Given the description of an element on the screen output the (x, y) to click on. 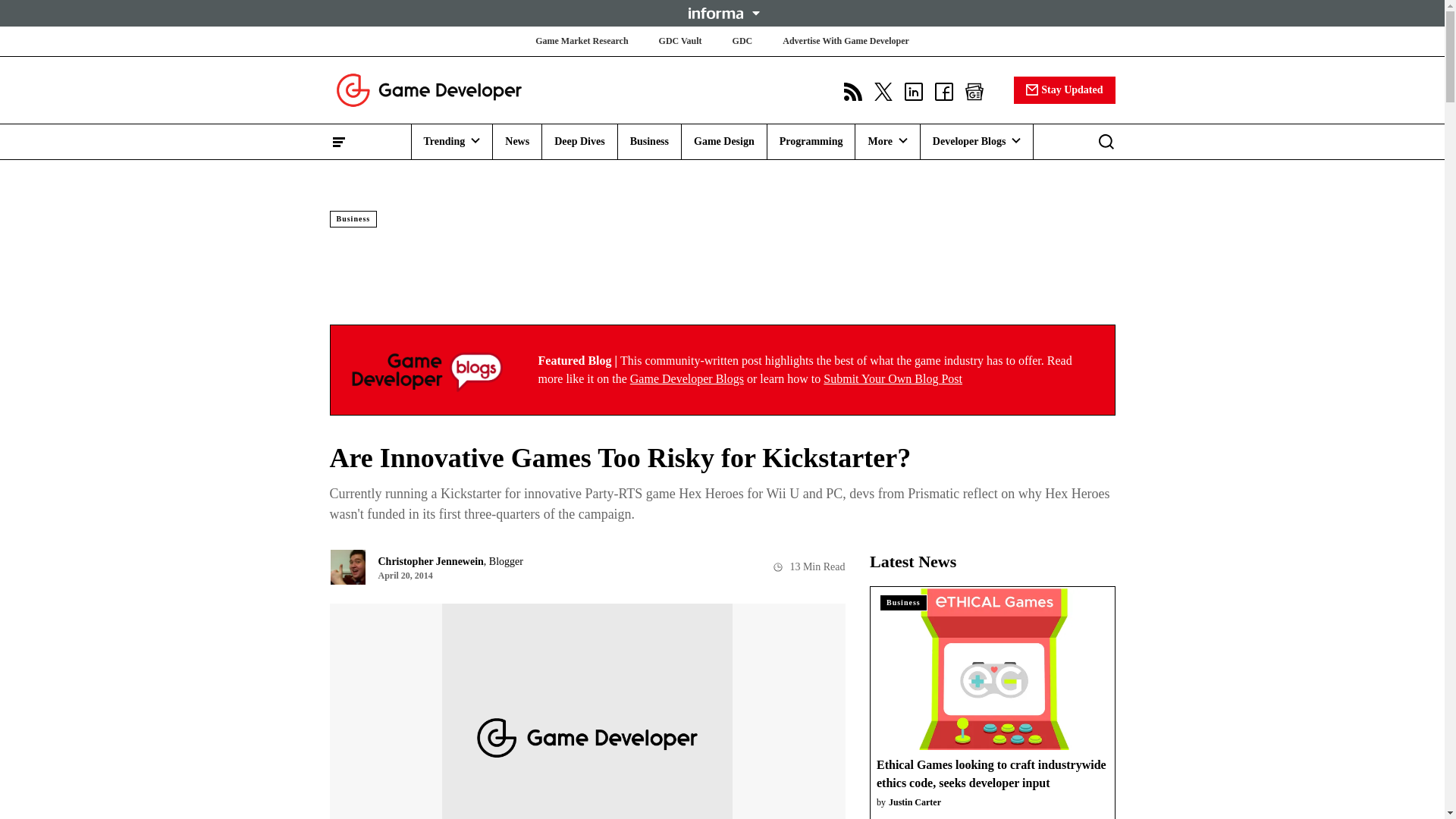
Game Market Research (581, 41)
Picture of Christopher Jennewein (347, 566)
Stay Updated (1064, 89)
Deep Dives (579, 141)
Programming (810, 141)
Business (649, 141)
Game Developer Logo (428, 369)
Advertise With Game Developer (845, 41)
GDC Vault (680, 41)
GDC (742, 41)
